Given the description of an element on the screen output the (x, y) to click on. 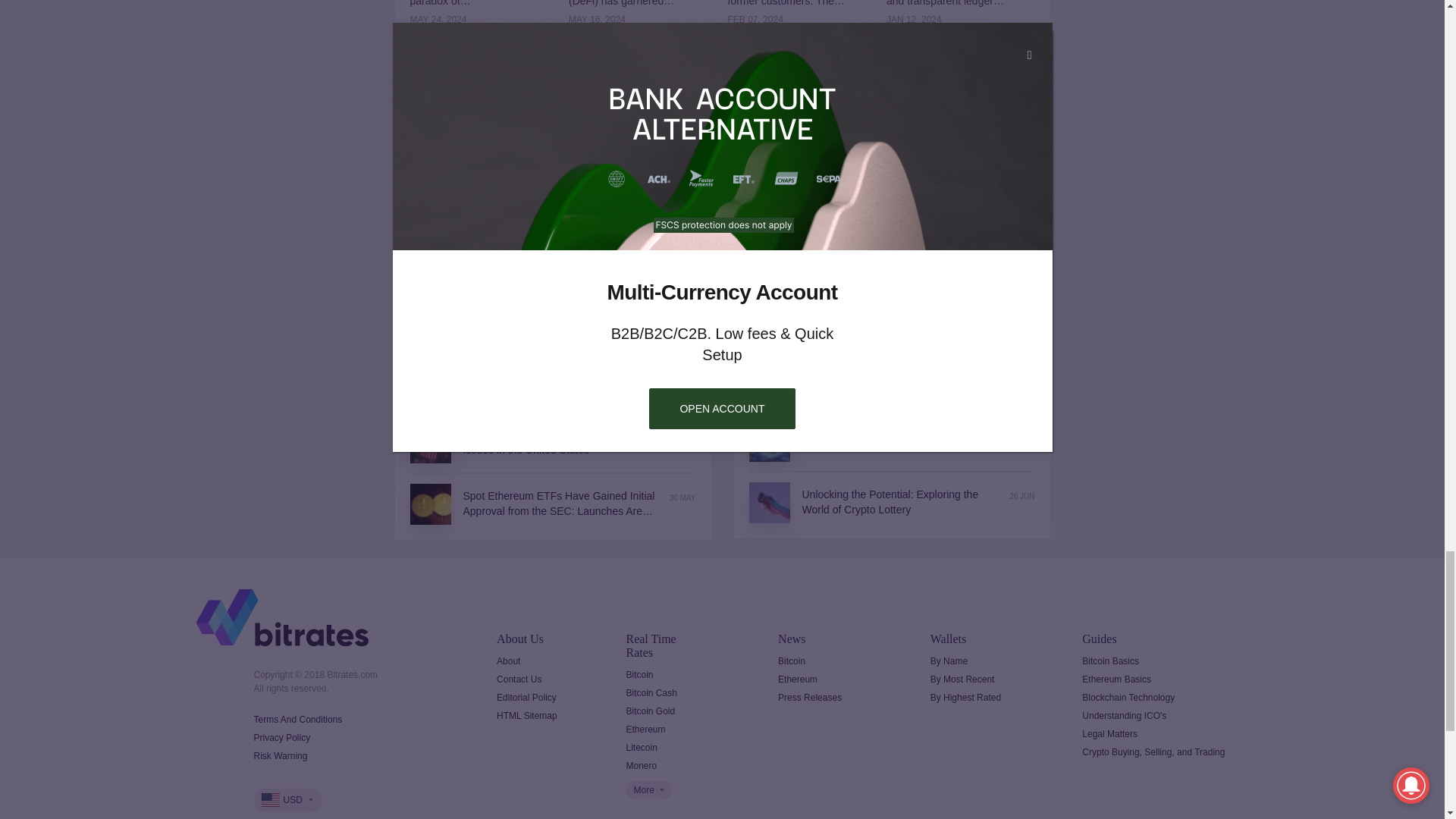
Wednesday, February 07, 2024 (789, 19)
Wednesday, July 03, 2024 (1023, 189)
Friday, May 24, 2024 (471, 19)
Wednesday, June 26, 2024 (1021, 496)
Friday, June 28, 2024 (1021, 434)
Sunday, June 30, 2024 (1021, 312)
Friday, January 12, 2024 (948, 19)
Thursday, May 30, 2024 (682, 498)
Monday, July 15, 2024 (1022, 136)
Friday, June 28, 2024 (1021, 373)
Tuesday, July 02, 2024 (1023, 250)
Wednesday, July 24, 2024 (552, 329)
Sunday, June 16, 2024 (682, 436)
Thursday, May 16, 2024 (631, 19)
Wednesday, July 03, 2024 (685, 384)
